Given the description of an element on the screen output the (x, y) to click on. 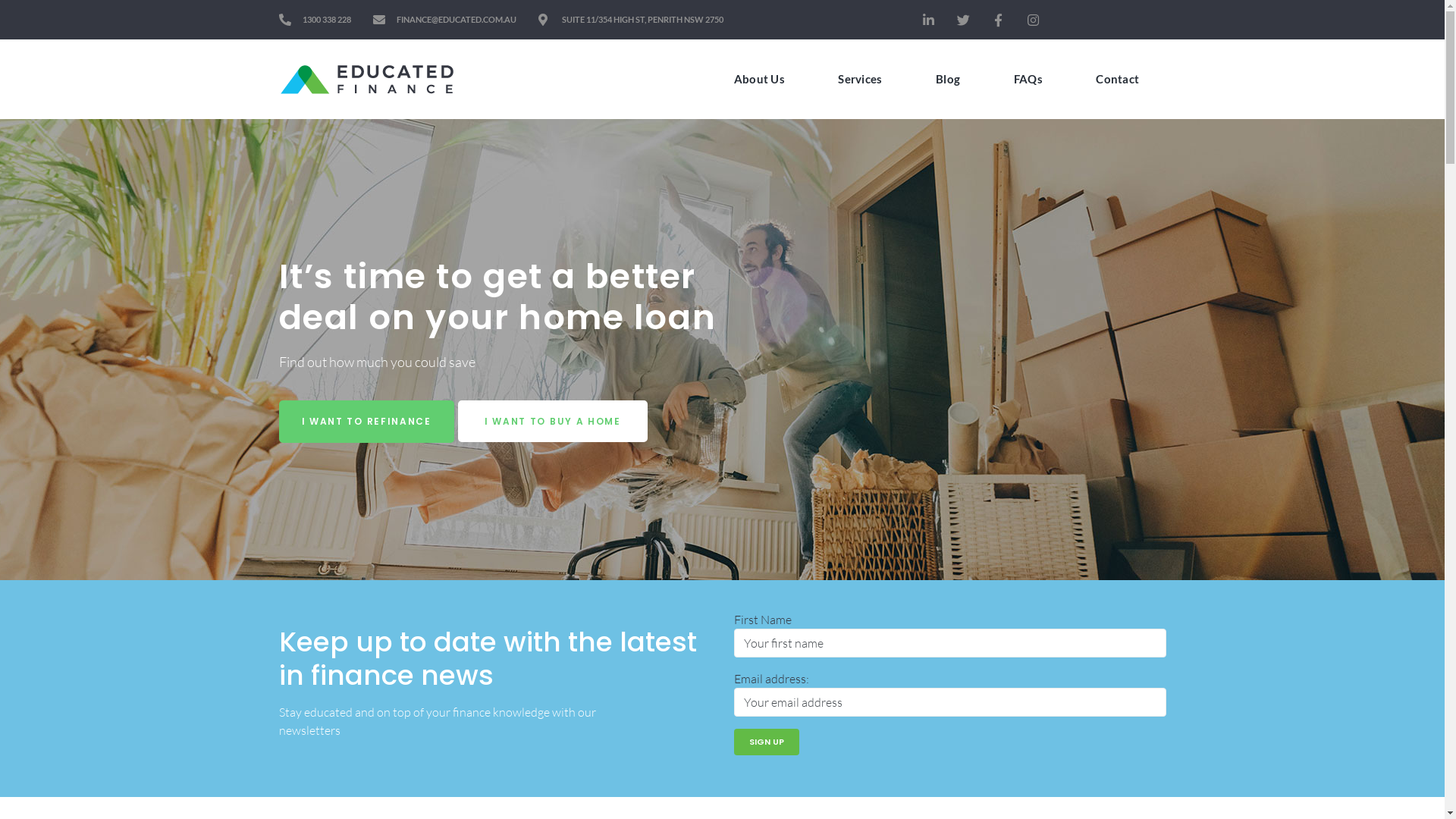
About Us Element type: text (758, 78)
Services Element type: text (860, 78)
Contact Element type: text (1117, 78)
FINANCE@EDUCATED.COM.AU Element type: text (444, 19)
FAQs Element type: text (1027, 78)
1300 338 228 Element type: text (315, 19)
I WANT TO REFINANCE Element type: text (366, 421)
Blog Element type: text (948, 78)
I WANT TO BUY A HOME Element type: text (552, 421)
Sign up Element type: text (766, 741)
